Given the description of an element on the screen output the (x, y) to click on. 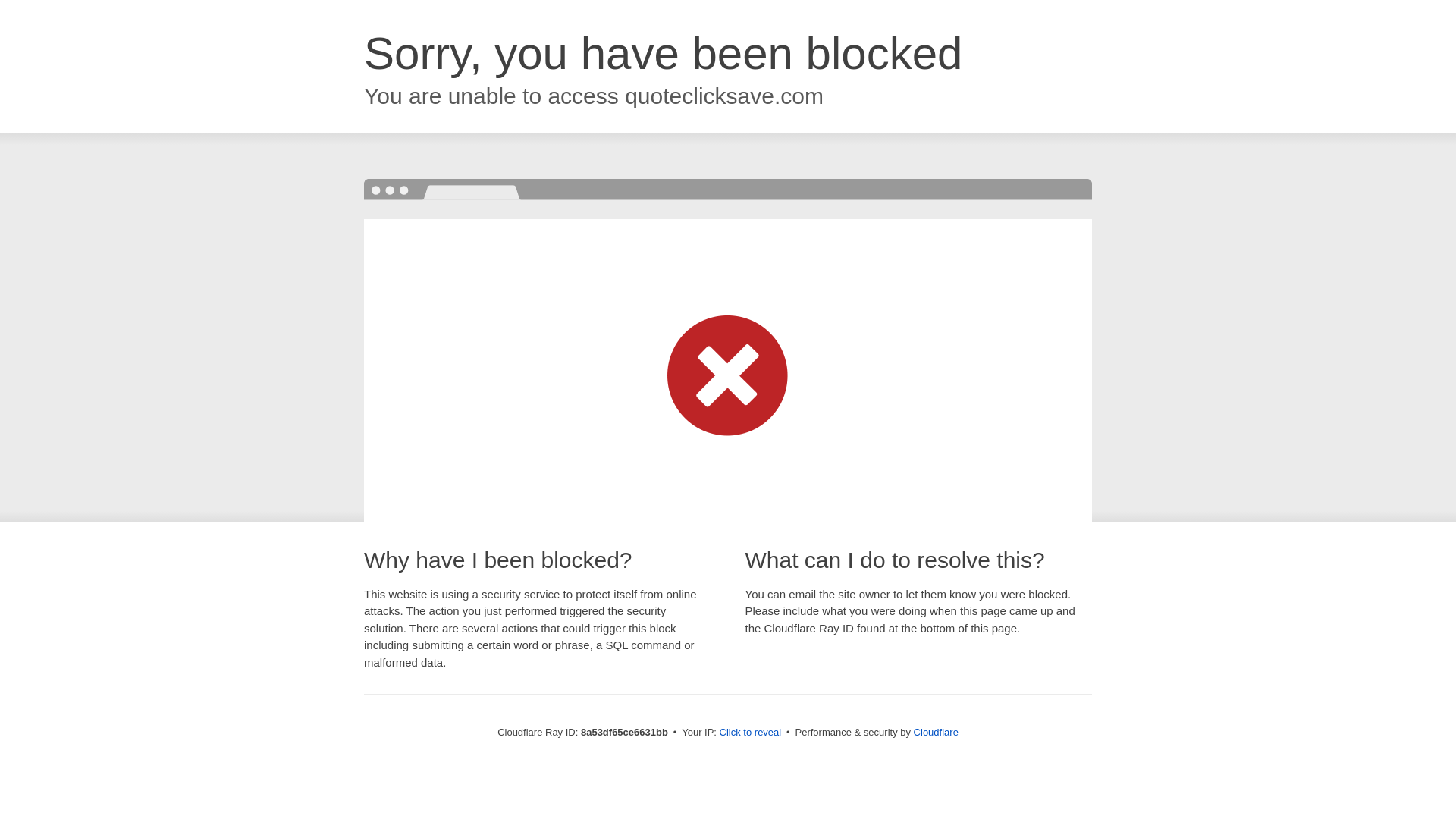
Click to reveal (750, 732)
Cloudflare (936, 731)
